Given the description of an element on the screen output the (x, y) to click on. 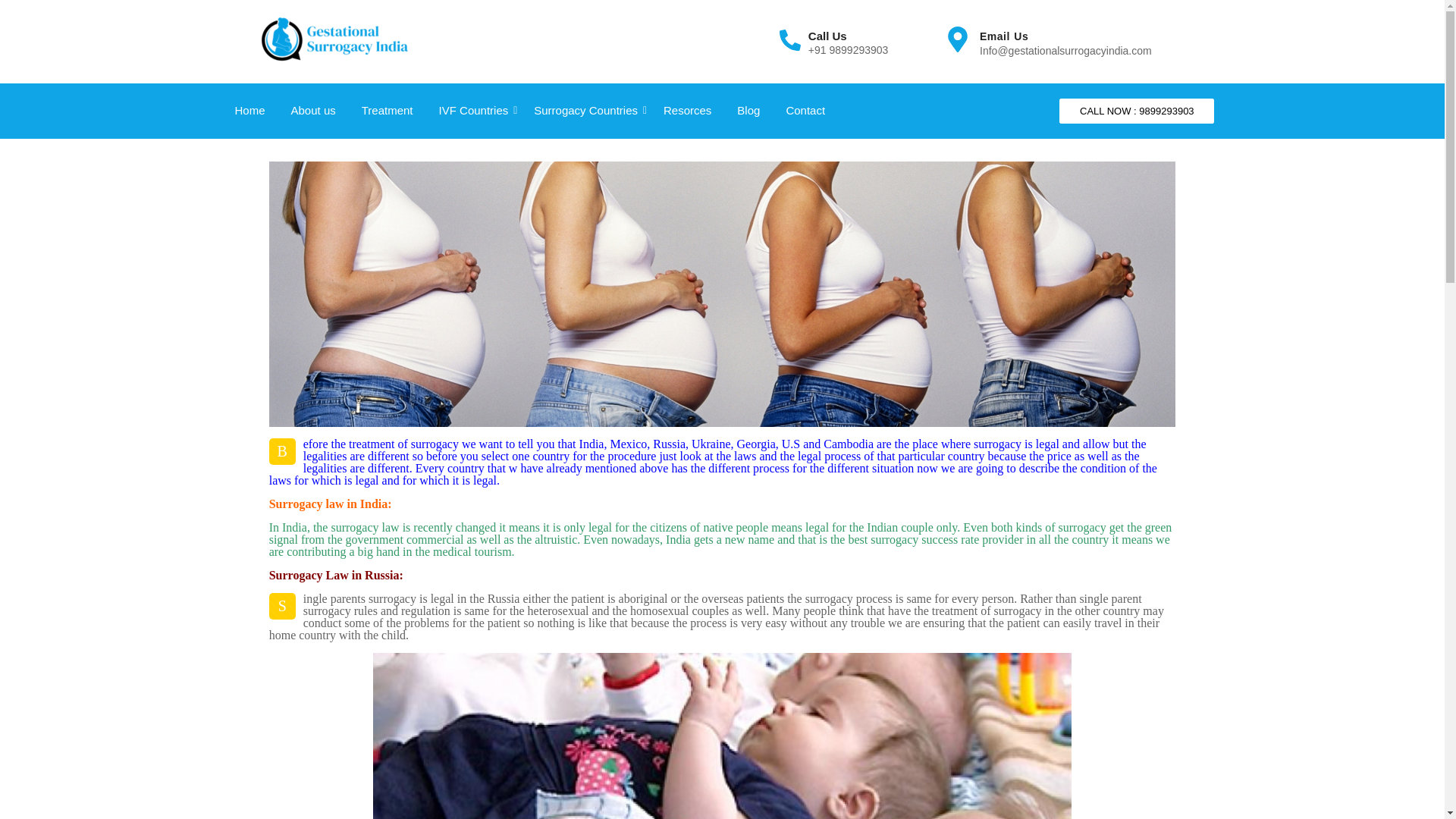
Surrogacy Countries (585, 110)
Treatment (387, 110)
IVF Countries (473, 110)
About us (312, 110)
Home (248, 110)
